Given the description of an element on the screen output the (x, y) to click on. 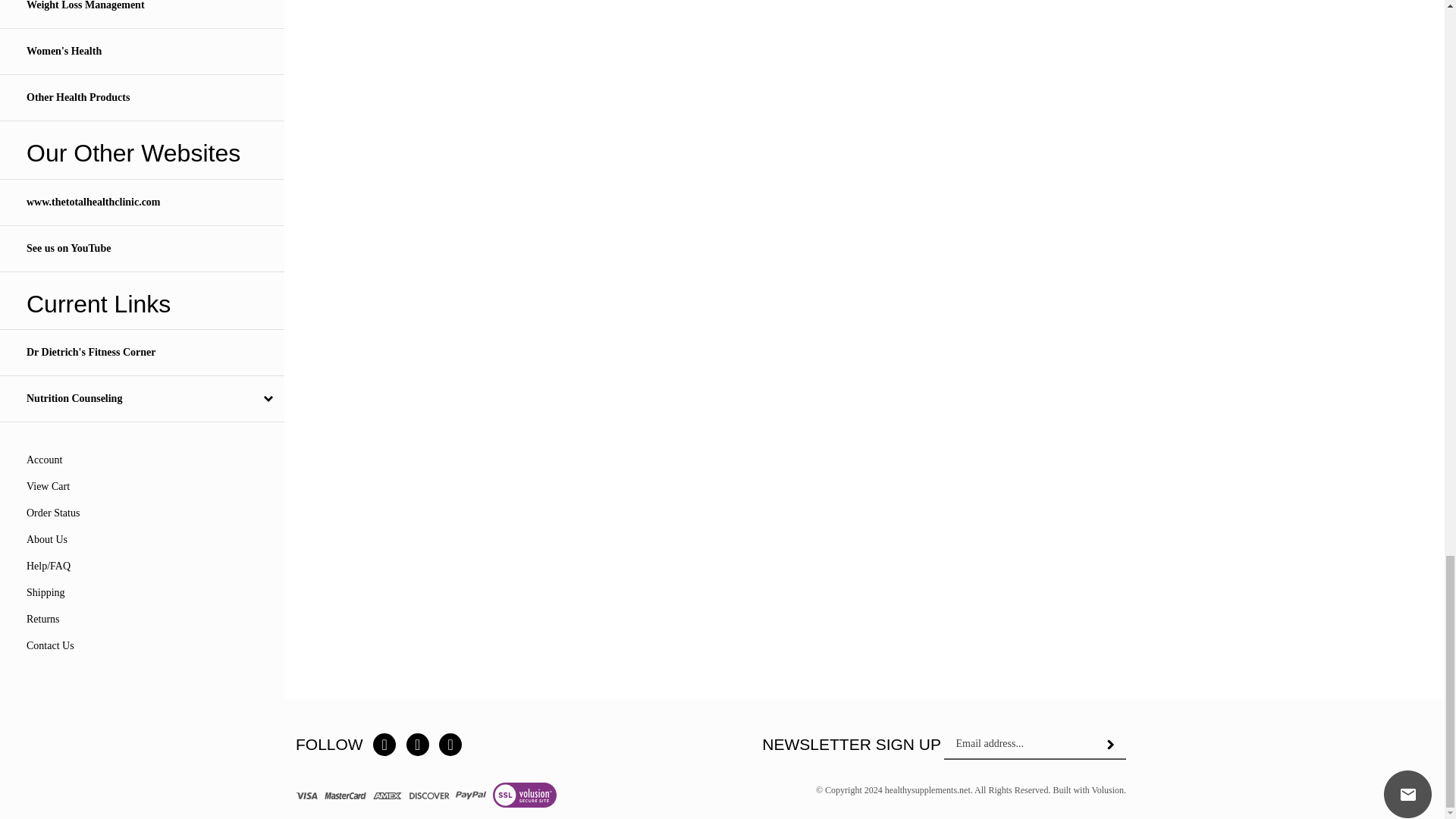
Contact Us (50, 645)
Account (44, 460)
Returns (42, 618)
About Us (46, 539)
Shipping (45, 592)
View Cart (47, 486)
Order Status (53, 512)
